Given the description of an element on the screen output the (x, y) to click on. 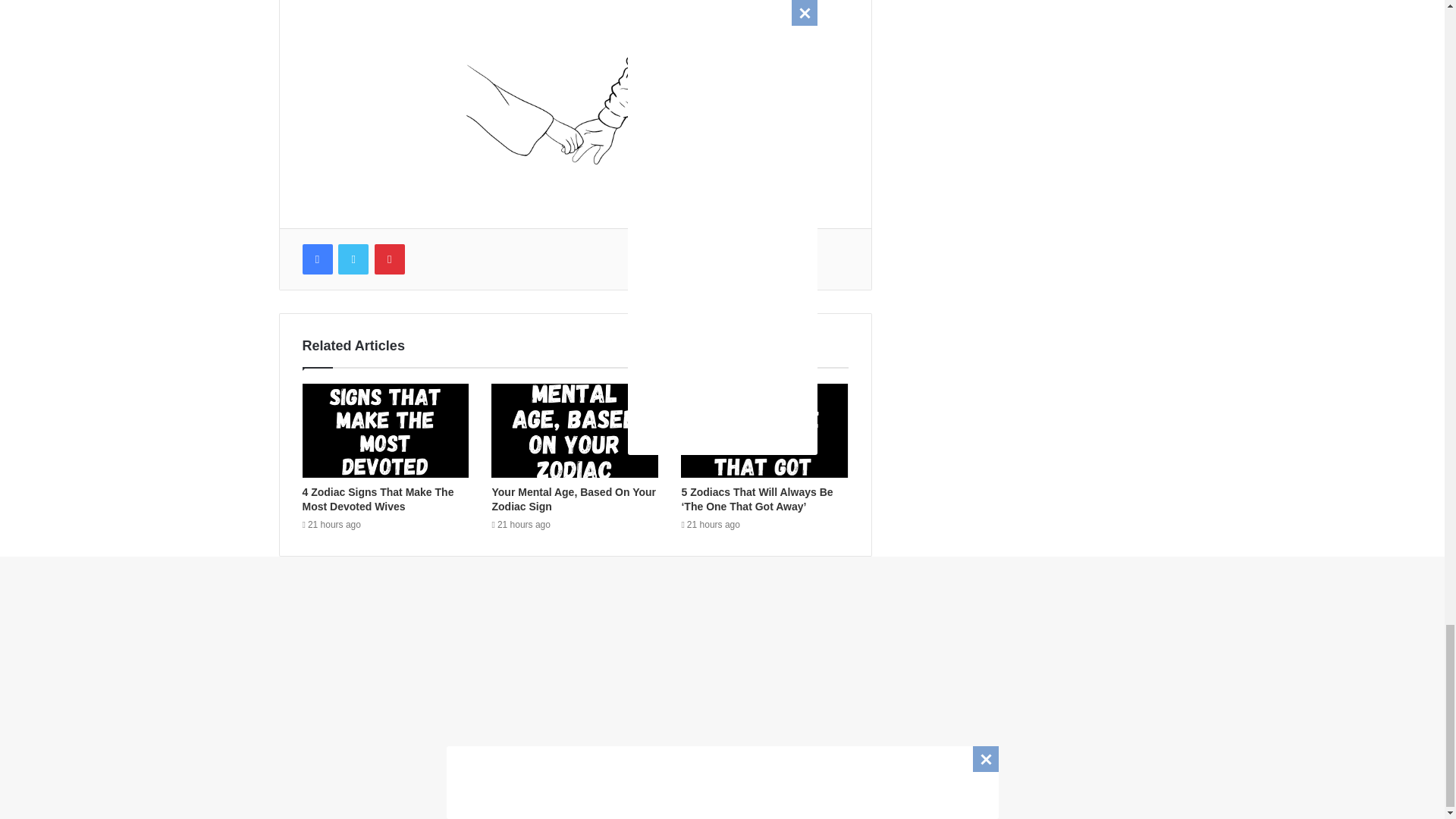
4 Zodiac Signs That Make The Most Devoted Wives (376, 499)
Your Mental Age, Based On Your Zodiac Sign (574, 499)
Pinterest (389, 259)
Facebook (316, 259)
Twitter (352, 259)
